Given the description of an element on the screen output the (x, y) to click on. 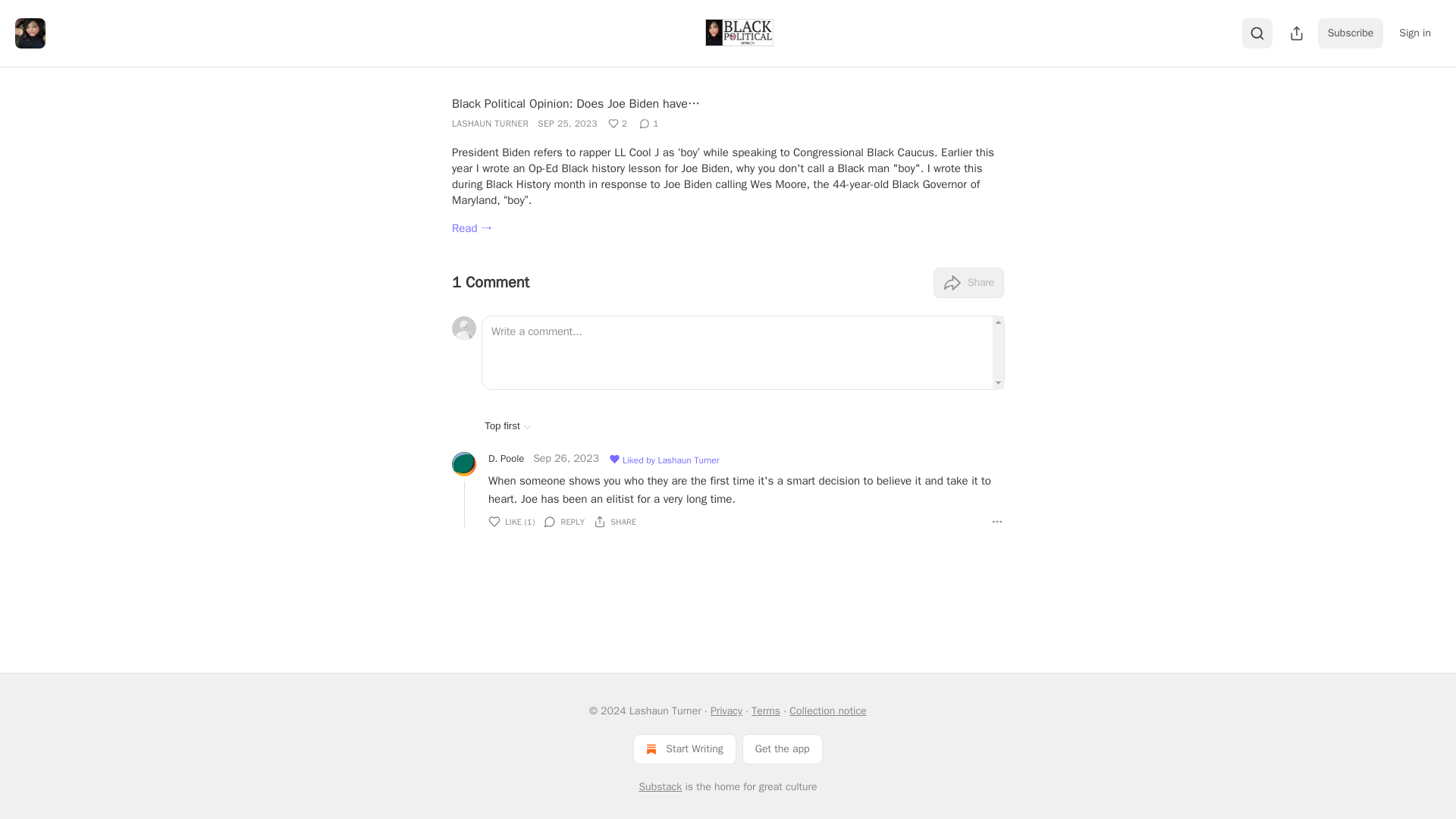
2 (617, 123)
Top first (507, 425)
D. Poole (505, 458)
Get the app (782, 748)
Sep 26, 2023 (565, 459)
Subscribe (1350, 33)
REPLY (564, 521)
2023-09-25T03:56:52.387Z (566, 123)
1 (648, 123)
Start Writing (684, 748)
Sign in (1415, 33)
Terms (765, 710)
SHARE (615, 521)
Collection notice (827, 710)
Substack (660, 786)
